Given the description of an element on the screen output the (x, y) to click on. 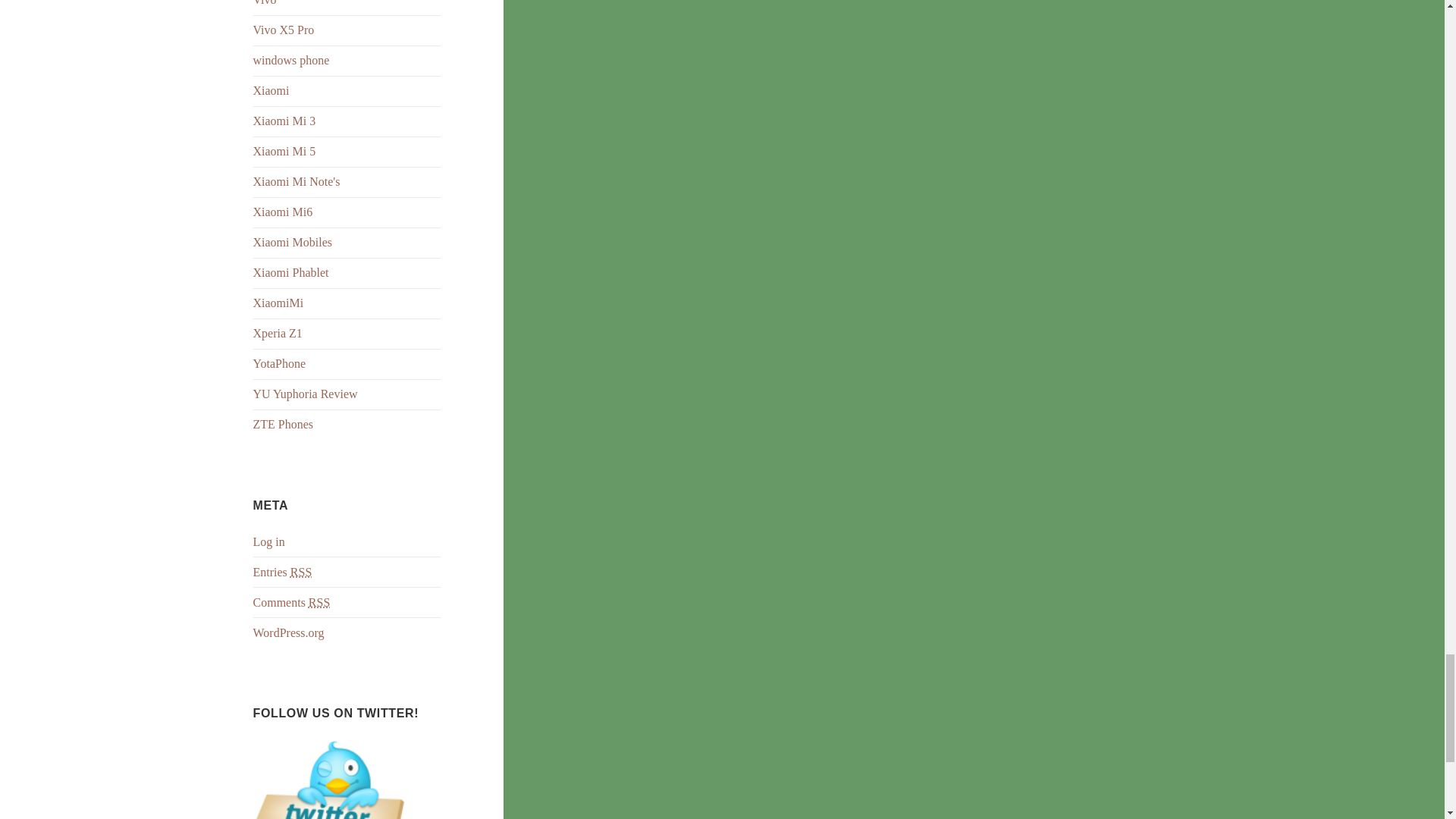
Follow Government Cell on Twitter (328, 814)
Really Simple Syndication (300, 572)
Really Simple Syndication (319, 602)
